Given the description of an element on the screen output the (x, y) to click on. 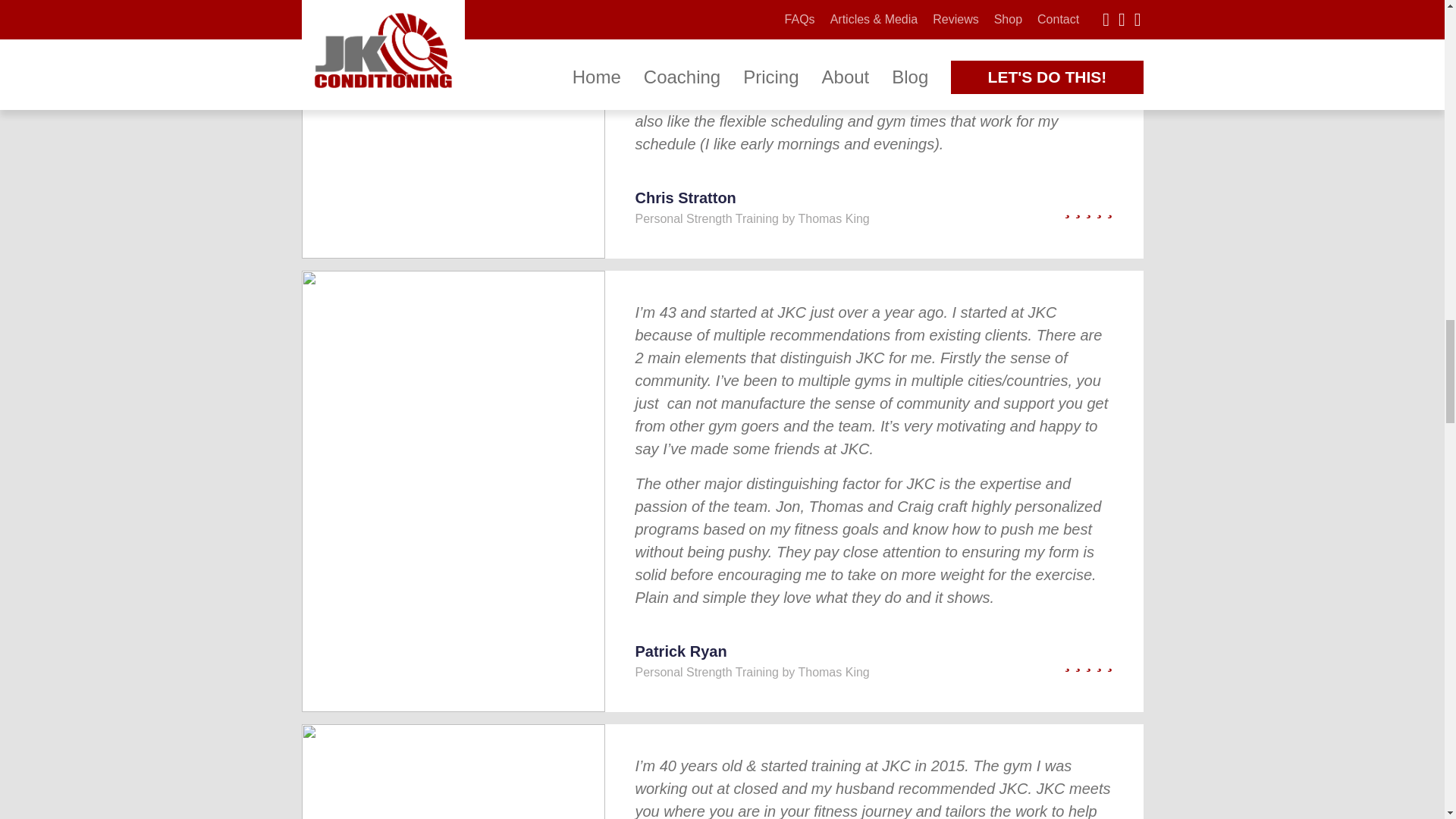
5 out of 5 Stars (1040, 661)
Personal Strength Training (706, 218)
Thomas King (833, 218)
Thomas King (833, 671)
Personal Strength Training (706, 671)
5 out of 5 Stars (1040, 209)
